Given the description of an element on the screen output the (x, y) to click on. 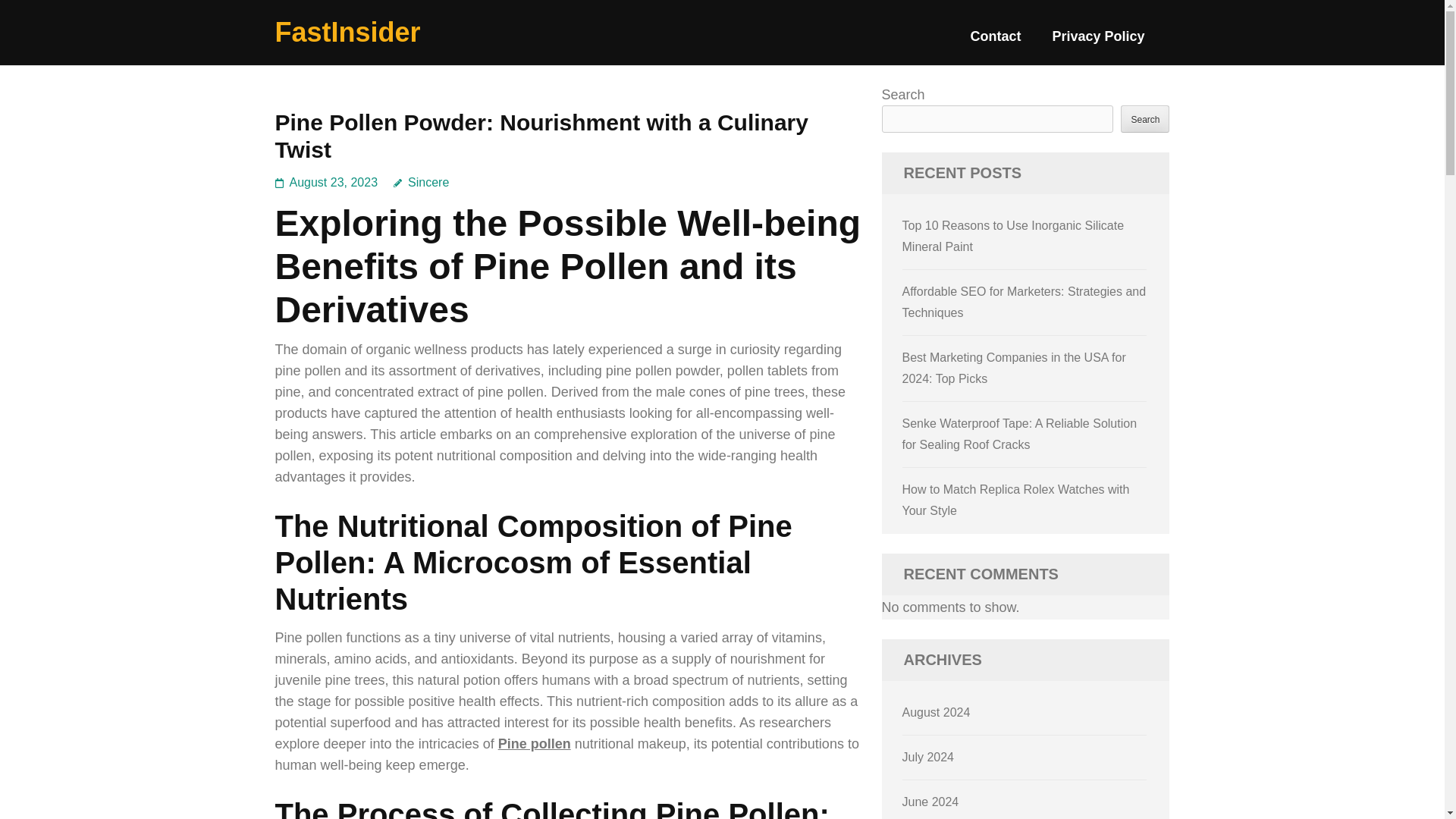
Contact (994, 42)
June 2024 (930, 801)
Pine pollen (533, 743)
FastInsider (347, 31)
Sincere (420, 182)
How to Match Replica Rolex Watches with Your Style (1015, 499)
July 2024 (928, 757)
Privacy Policy (1097, 42)
Search (1145, 118)
Best Marketing Companies in the USA for 2024: Top Picks (1013, 367)
